Given the description of an element on the screen output the (x, y) to click on. 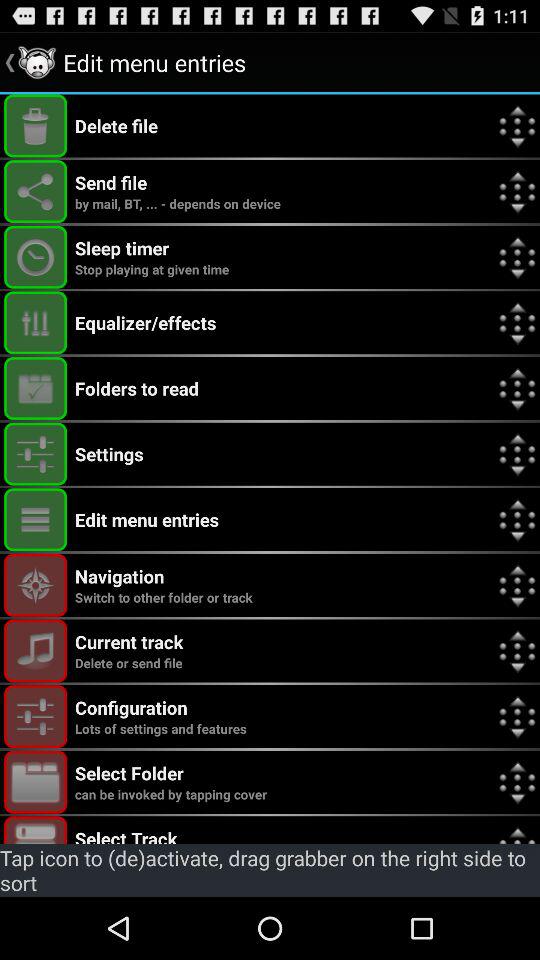
list menu (35, 519)
